Given the description of an element on the screen output the (x, y) to click on. 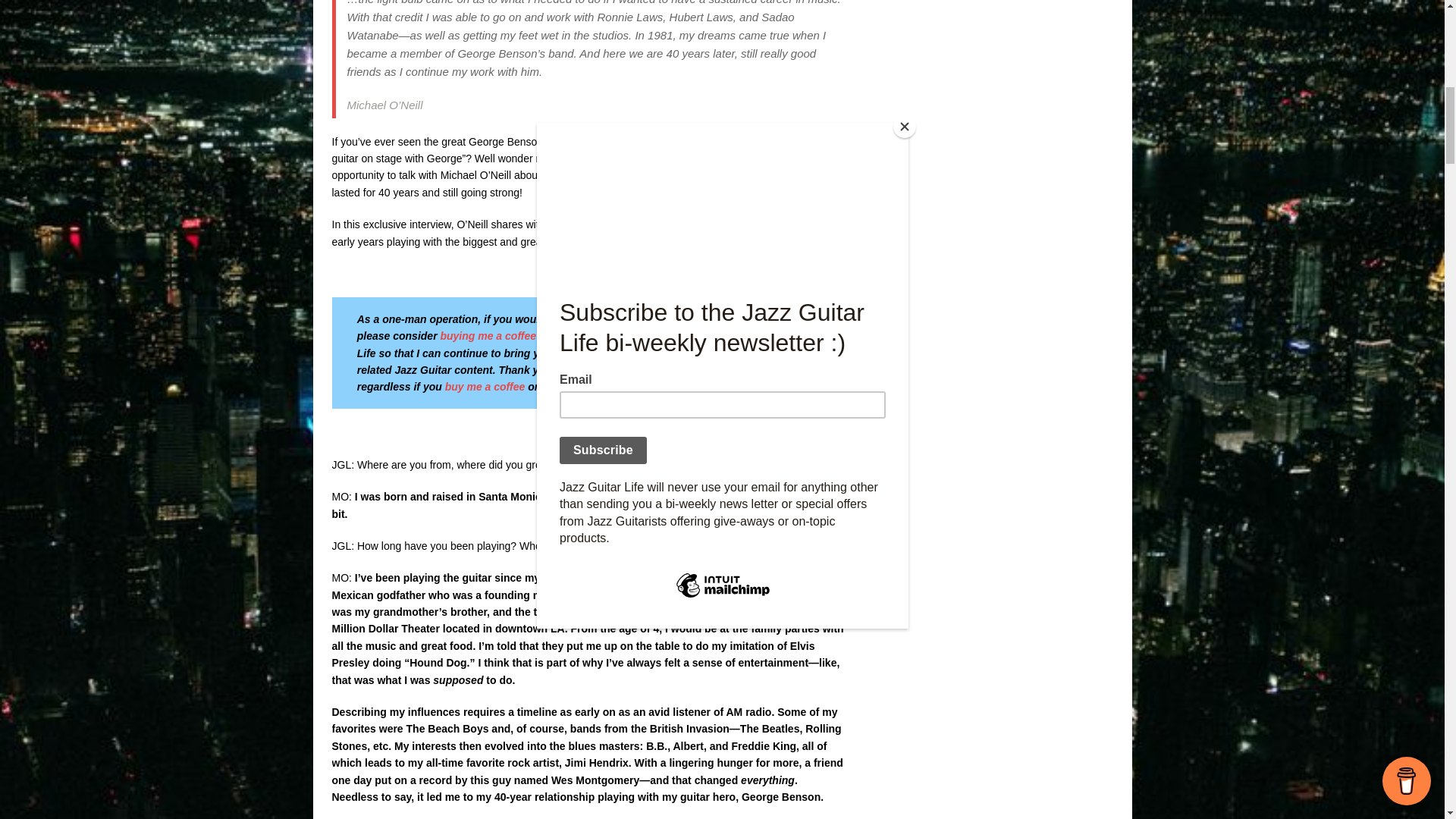
buy me a coffee (485, 386)
buying me a coffee (487, 336)
